Given the description of an element on the screen output the (x, y) to click on. 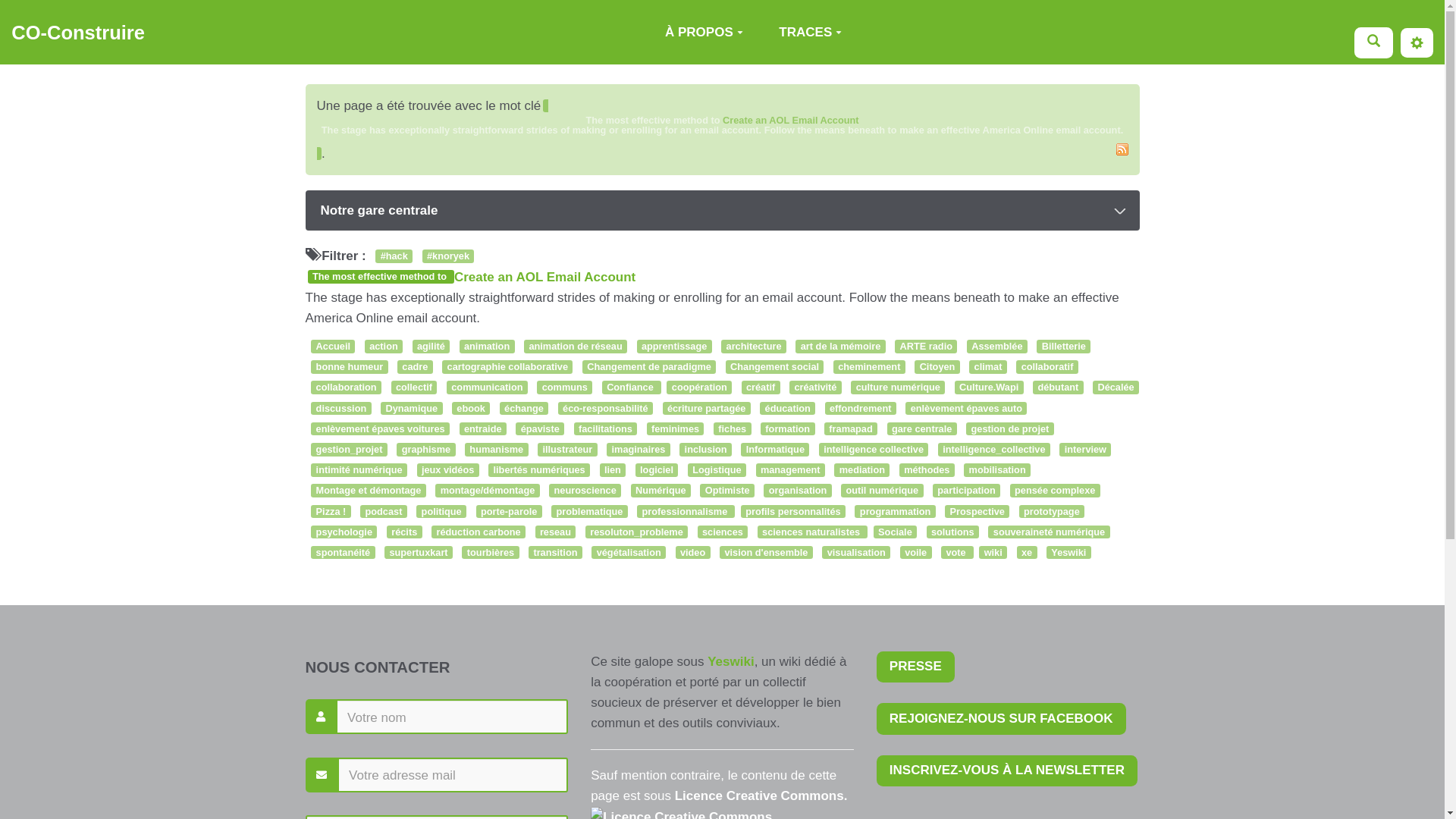
Changement de paradigme Element type: text (648, 366)
sciences naturalistes Element type: text (812, 532)
video Element type: text (692, 552)
action Element type: text (383, 346)
reseau Element type: text (555, 532)
illustrateur Element type: text (567, 449)
intelligence_collective Element type: text (994, 449)
sciences Element type: text (722, 532)
Create an AOL Email Account Element type: text (544, 276)
gestion_projet Element type: text (348, 449)
Accueil Element type: text (332, 346)
architecture Element type: text (753, 346)
CO-Construire Element type: text (78, 32)
Optimiste Element type: text (726, 490)
animation Element type: text (486, 346)
solutions Element type: text (952, 532)
wiki Element type: text (993, 552)
interview Element type: text (1084, 449)
lien Element type: text (612, 469)
discussion Element type: text (340, 408)
ARTE radio Element type: text (925, 346)
xe Element type: text (1026, 552)
Prospective Element type: text (976, 511)
cadre Element type: text (415, 366)
vision d'ensemble Element type: text (765, 552)
mediation Element type: text (861, 469)
Logistique Element type: text (716, 469)
Billetterie Element type: text (1063, 346)
inclusion Element type: text (705, 449)
TRACES Element type: text (810, 32)
REJOIGNEZ-NOUS SUR FACEBOOK Element type: text (1001, 718)
management Element type: text (790, 469)
feminimes Element type: text (675, 429)
Create an AOL Email Account Element type: text (790, 119)
podcast Element type: text (383, 511)
porte-parole Element type: text (509, 511)
Yeswiki Element type: text (730, 661)
effondrement Element type: text (860, 408)
politique Element type: text (441, 511)
Changement social Element type: text (774, 366)
apprentissage Element type: text (674, 346)
prototypage Element type: text (1051, 511)
ebook Element type: text (470, 408)
Informatique Element type: text (774, 449)
#hack Element type: text (393, 256)
communication Element type: text (486, 387)
cheminement Element type: text (869, 366)
intelligence collective Element type: text (873, 449)
Culture.Wapi Element type: text (988, 387)
#knoryek Element type: text (448, 256)
humanisme Element type: text (496, 449)
Yeswiki Element type: text (1068, 552)
programmation Element type: text (894, 511)
fiches Element type: text (732, 429)
psychologie Element type: text (343, 532)
framapad Element type: text (850, 429)
mobilisation Element type: text (996, 469)
organisation Element type: text (797, 490)
collectif Element type: text (414, 387)
collaboratif Element type: text (1046, 366)
problematique Element type: text (589, 511)
resoluton_probleme Element type: text (636, 532)
gestion de projet Element type: text (1009, 429)
neuroscience Element type: text (585, 490)
Licence Creative Commons. Element type: text (760, 795)
Citoyen Element type: text (937, 366)
participation Element type: text (966, 490)
voile Element type: text (915, 552)
Sociale Element type: text (894, 532)
facilitations Element type: text (605, 429)
formation Element type: text (787, 429)
PRESSE Element type: text (915, 666)
professionnalisme Element type: text (685, 511)
bonne humeur Element type: text (348, 366)
visualisation Element type: text (856, 552)
The most effective method to Element type: text (380, 276)
logiciel Element type: text (656, 469)
communs Element type: text (564, 387)
imaginaires Element type: text (638, 449)
cartographie collaborative Element type: text (507, 366)
Confiance Element type: text (631, 387)
climat Element type: text (988, 366)
graphisme Element type: text (425, 449)
entraide Element type: text (482, 429)
gare centrale Element type: text (922, 429)
supertuxkart Element type: text (418, 552)
transition Element type: text (555, 552)
collaboration Element type: text (345, 387)
Pizza ! Element type: text (330, 511)
Dynamique Element type: text (411, 408)
vote Element type: text (957, 552)
